Given the description of an element on the screen output the (x, y) to click on. 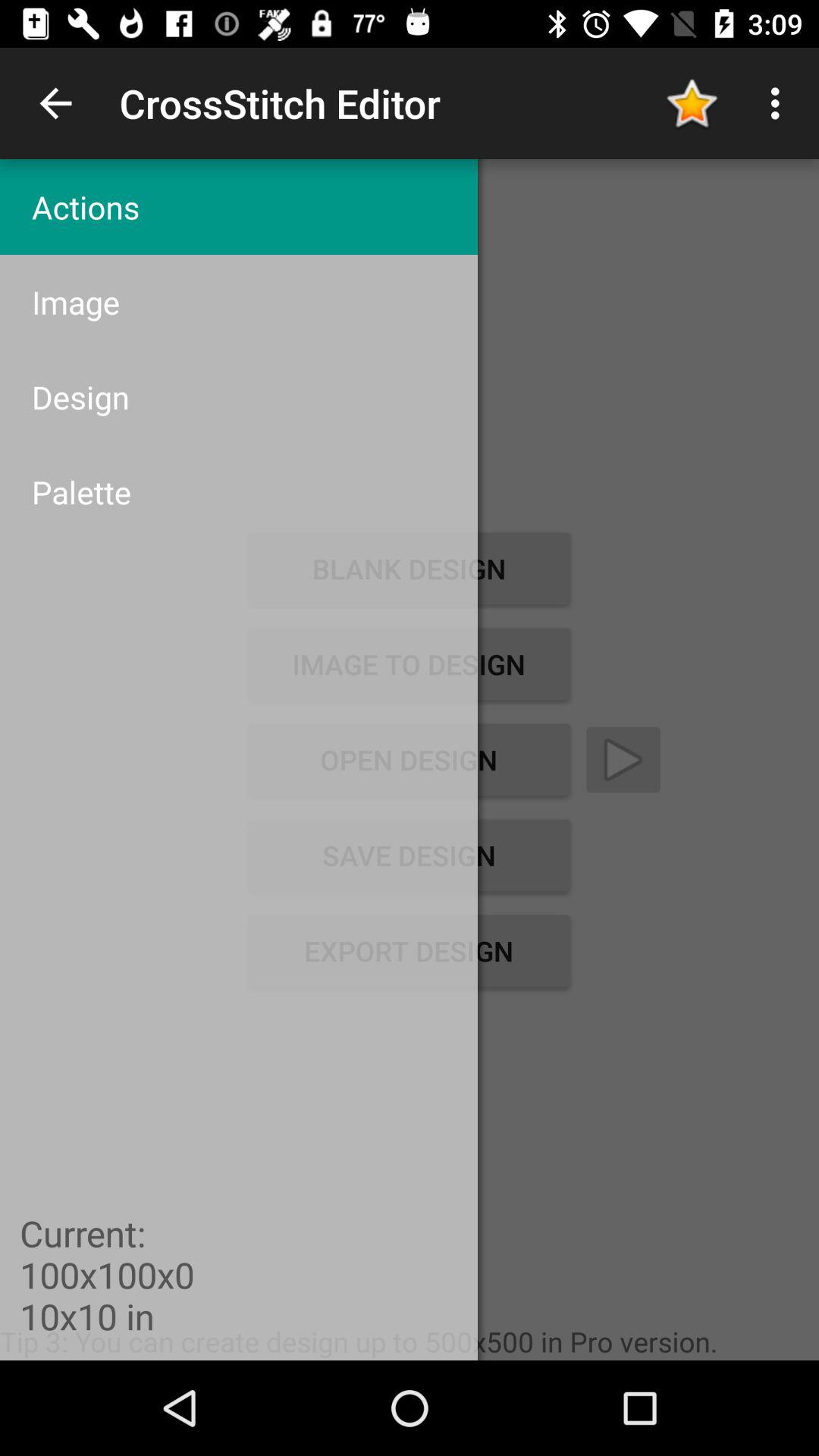
tap palette (238, 491)
